Given the description of an element on the screen output the (x, y) to click on. 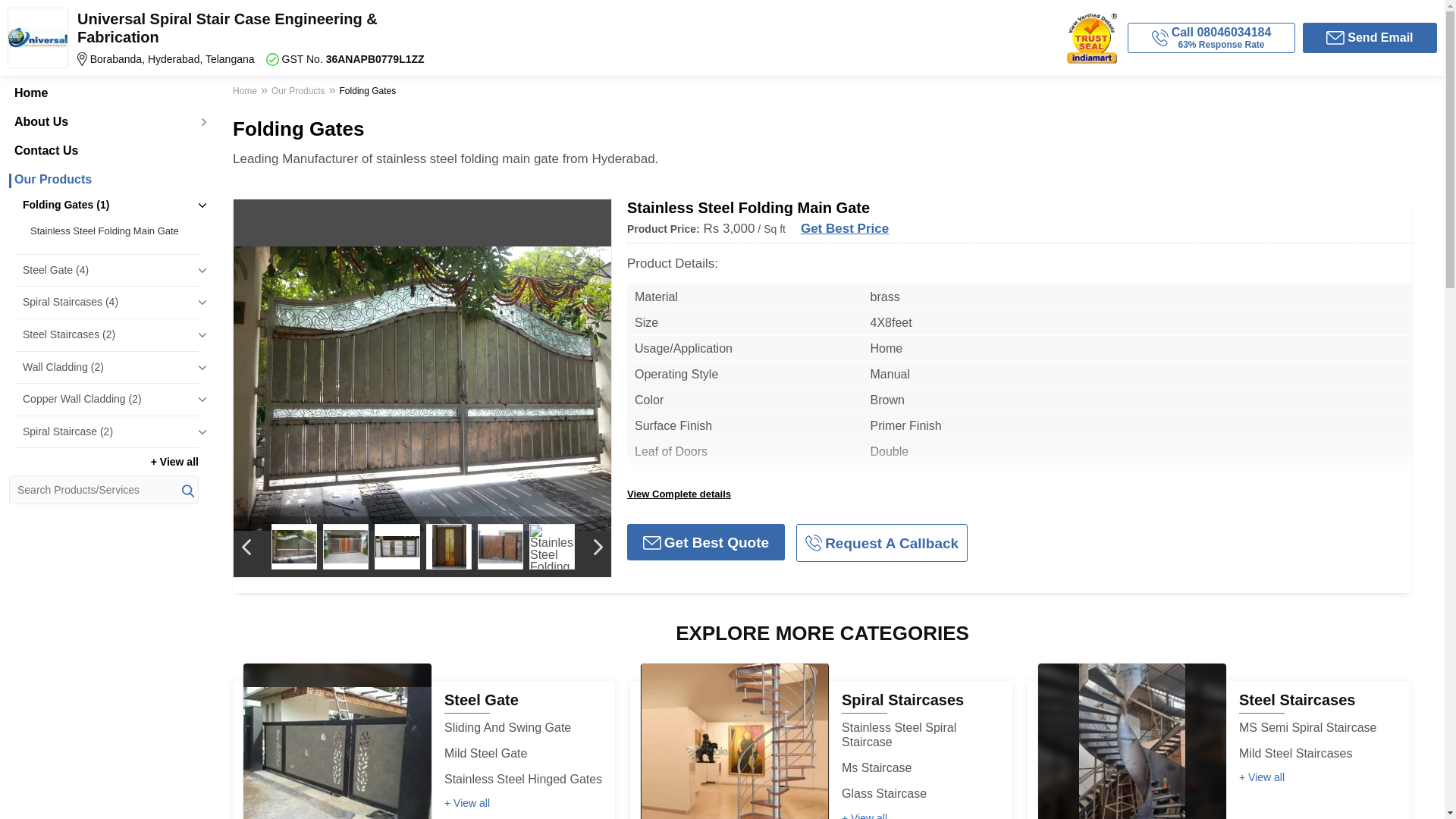
Home (103, 92)
Contact Us (103, 150)
Our Products (103, 179)
Our Products (298, 92)
Steel Gate (481, 699)
Home (246, 92)
About Us (103, 121)
Stainless Steel Folding Main Gate (110, 231)
